Given the description of an element on the screen output the (x, y) to click on. 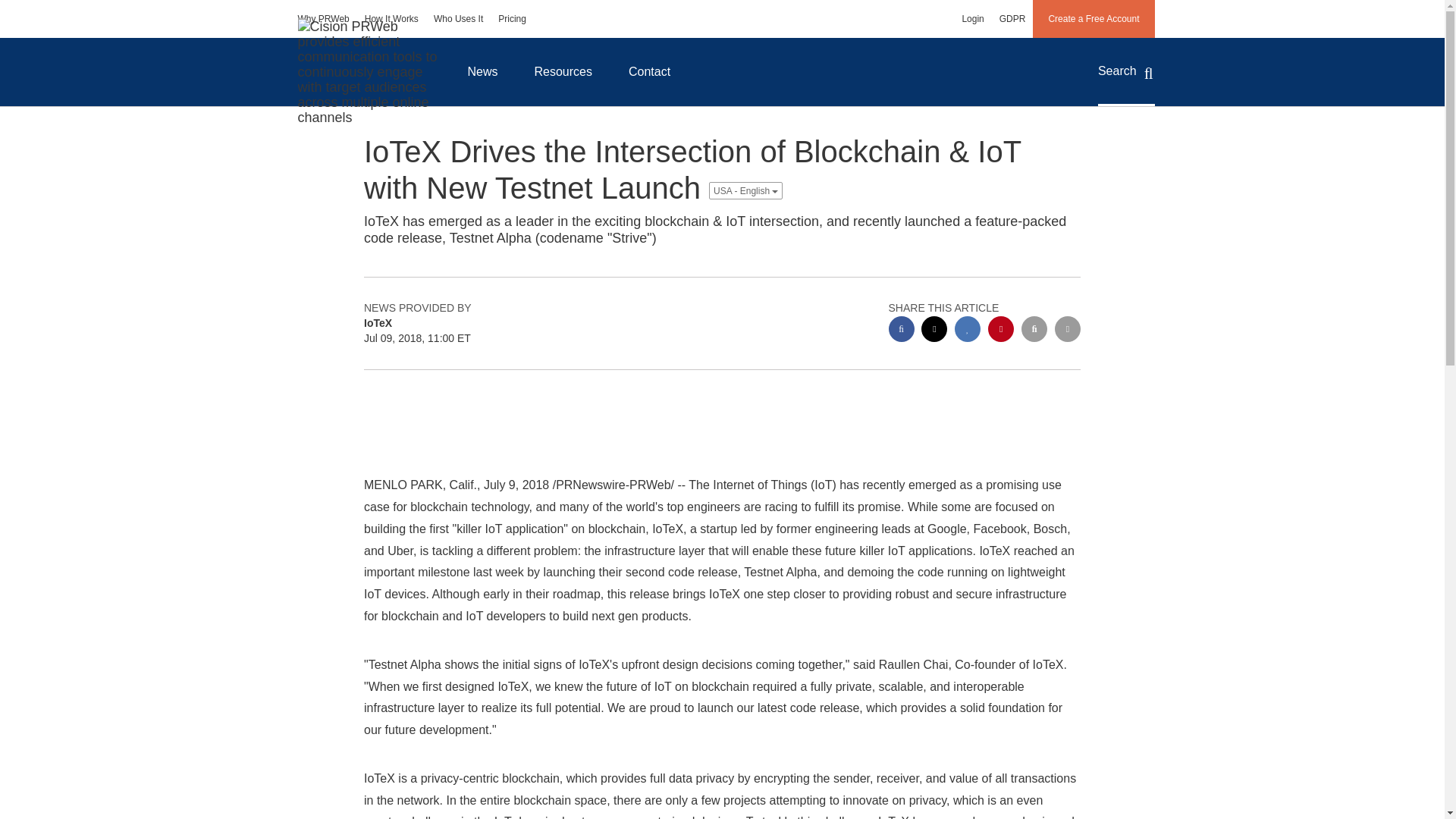
Why PRWeb (322, 18)
Pricing (512, 18)
Login (972, 18)
Resources (563, 71)
How It Works (391, 18)
News (481, 71)
Create a Free Account (1093, 18)
GDPR (1012, 18)
Who Uses It (458, 18)
Contact (649, 71)
Search (1125, 71)
